Given the description of an element on the screen output the (x, y) to click on. 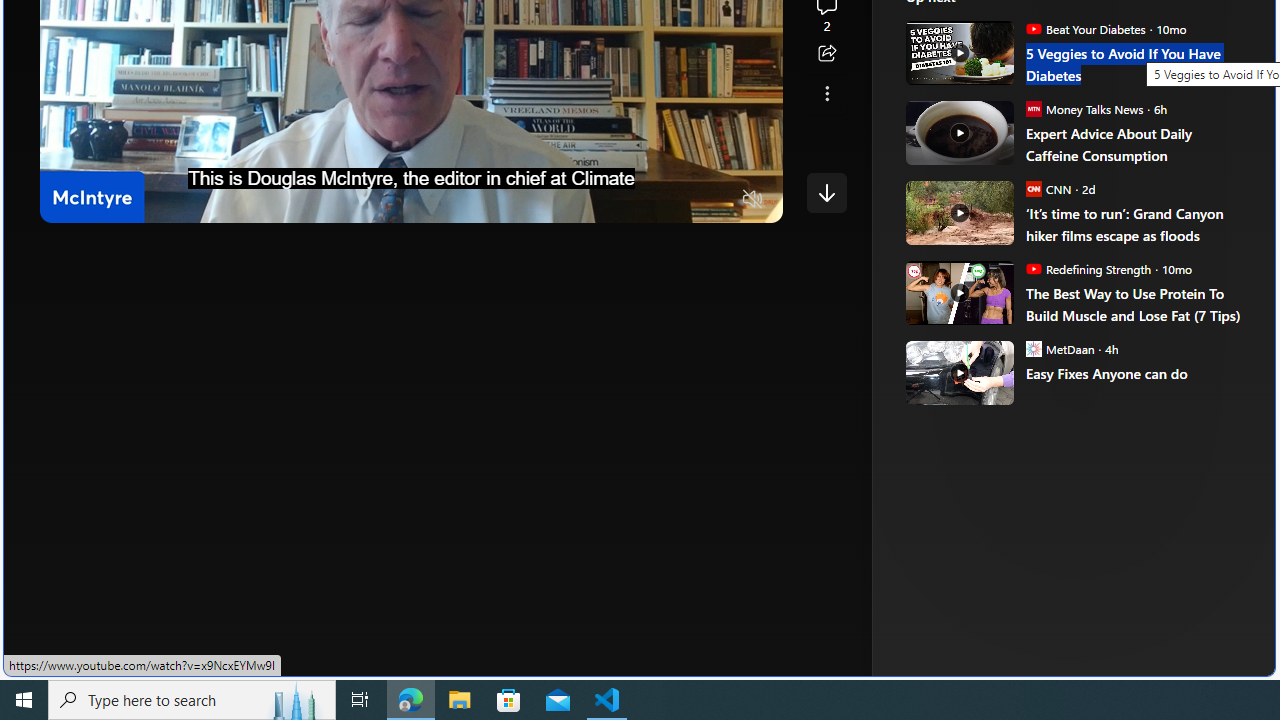
Share this story (826, 53)
Redefining Strength Redefining Strength (1088, 268)
Money Talks News (1033, 108)
Easy Fixes Anyone can do (958, 371)
Captions (675, 200)
Easy Fixes Anyone can do (1136, 373)
